Given the description of an element on the screen output the (x, y) to click on. 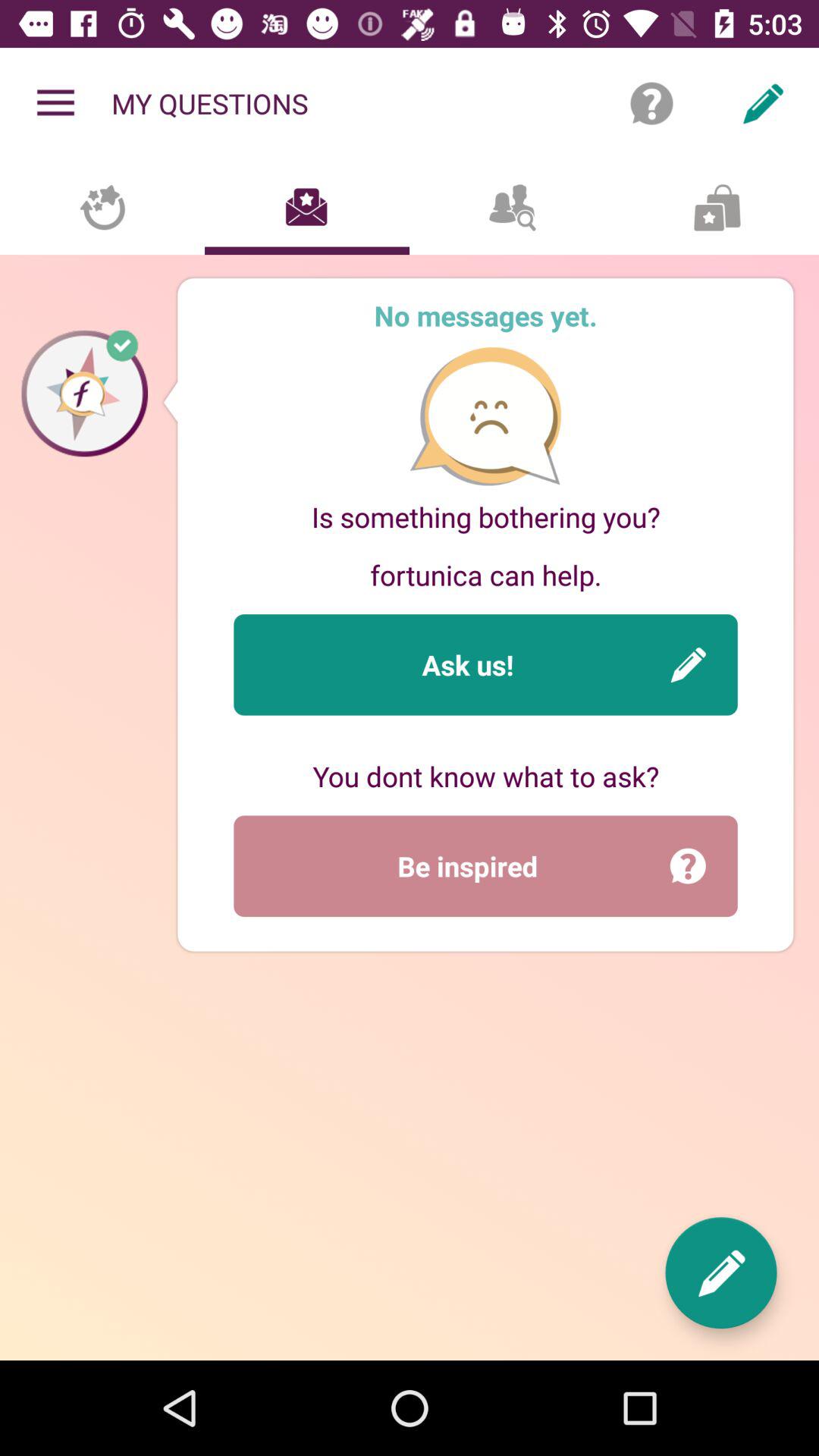
select the item at the bottom right corner (720, 1272)
